Given the description of an element on the screen output the (x, y) to click on. 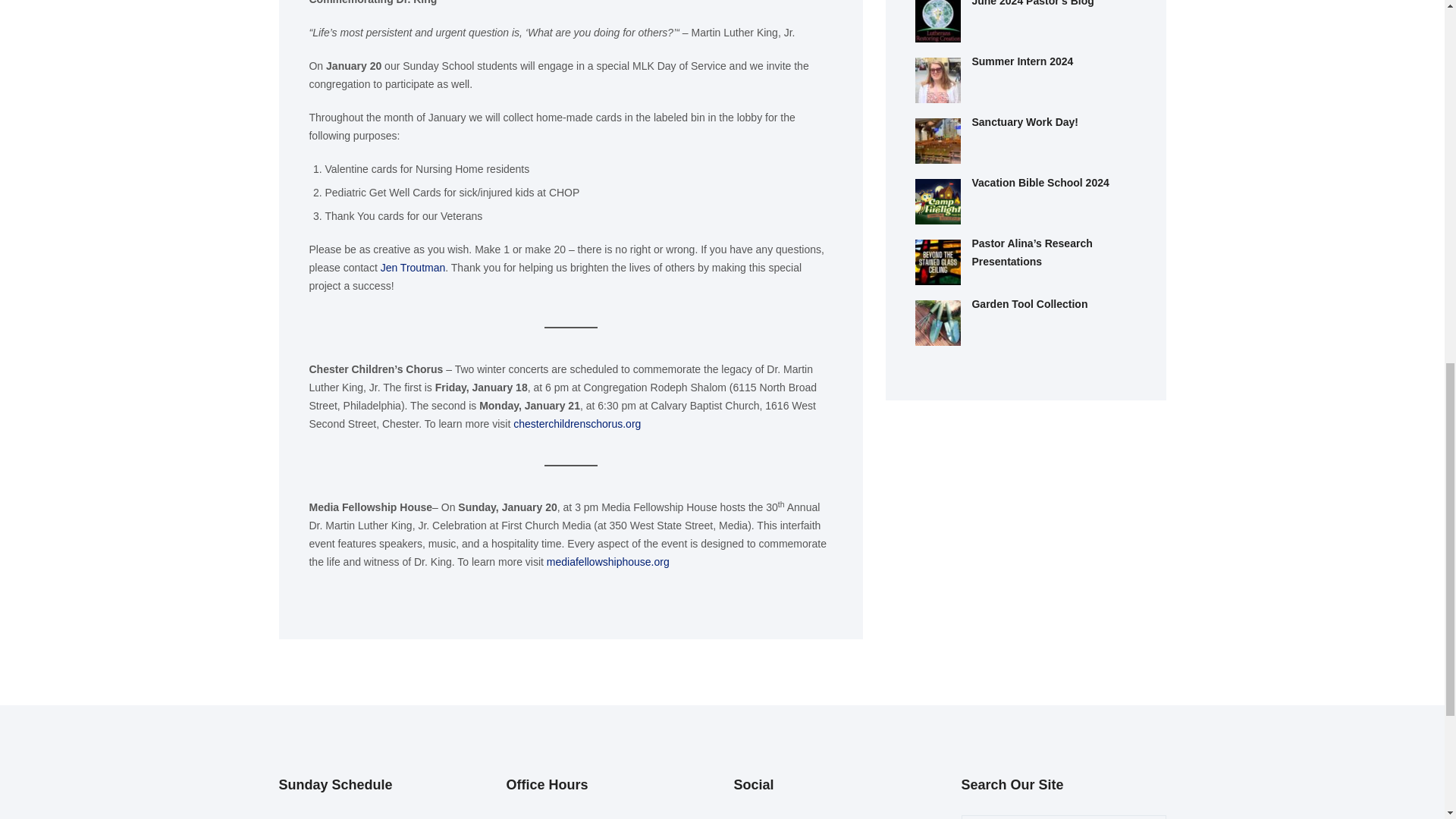
Search for: (1063, 816)
